Given the description of an element on the screen output the (x, y) to click on. 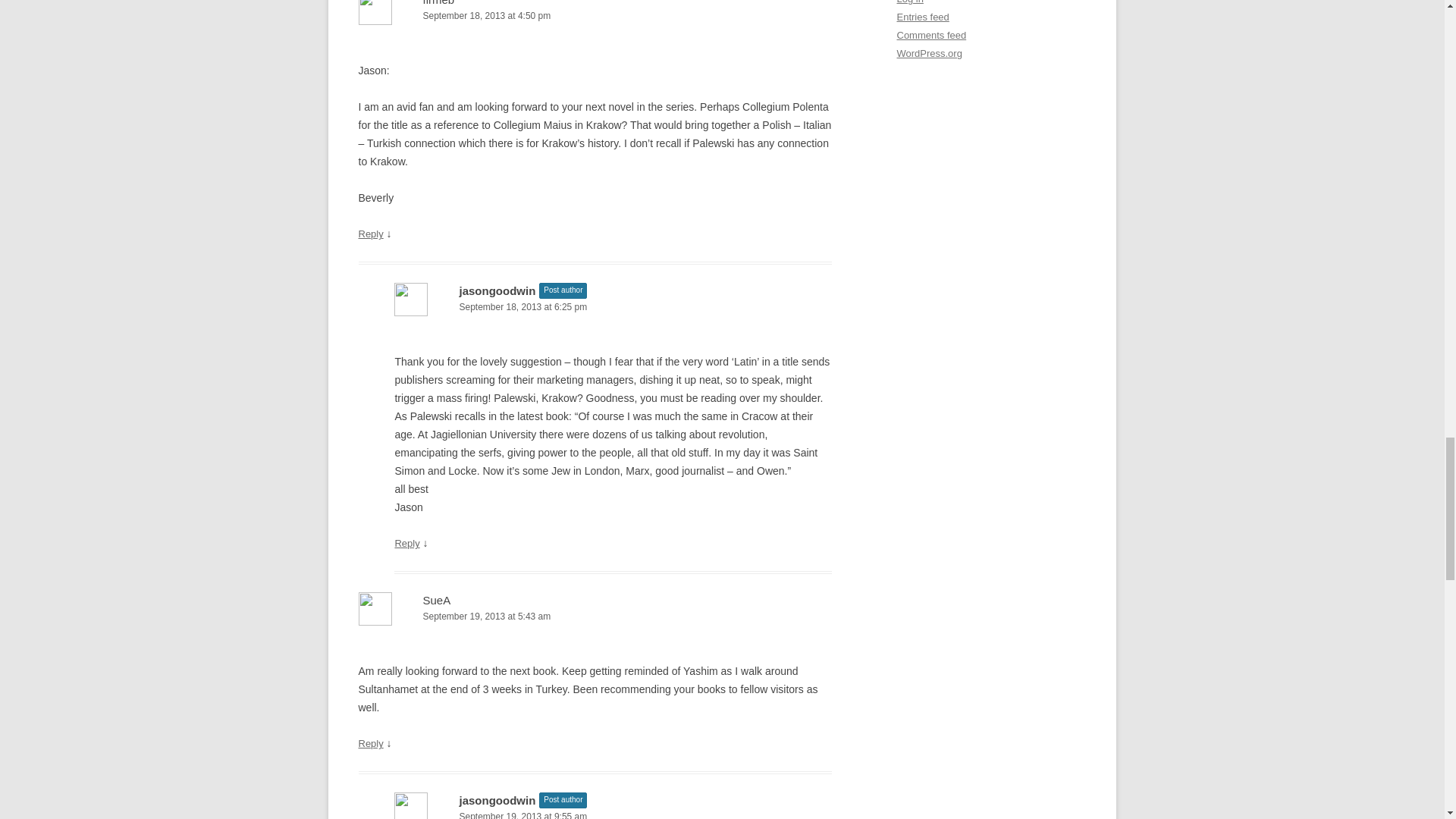
Reply (370, 233)
Reply (406, 542)
September 19, 2013 at 5:43 am (594, 616)
firmeb (438, 2)
Reply (370, 743)
September 18, 2013 at 4:50 pm (594, 16)
September 18, 2013 at 6:25 pm (612, 307)
September 19, 2013 at 9:55 am (612, 814)
